Given the description of an element on the screen output the (x, y) to click on. 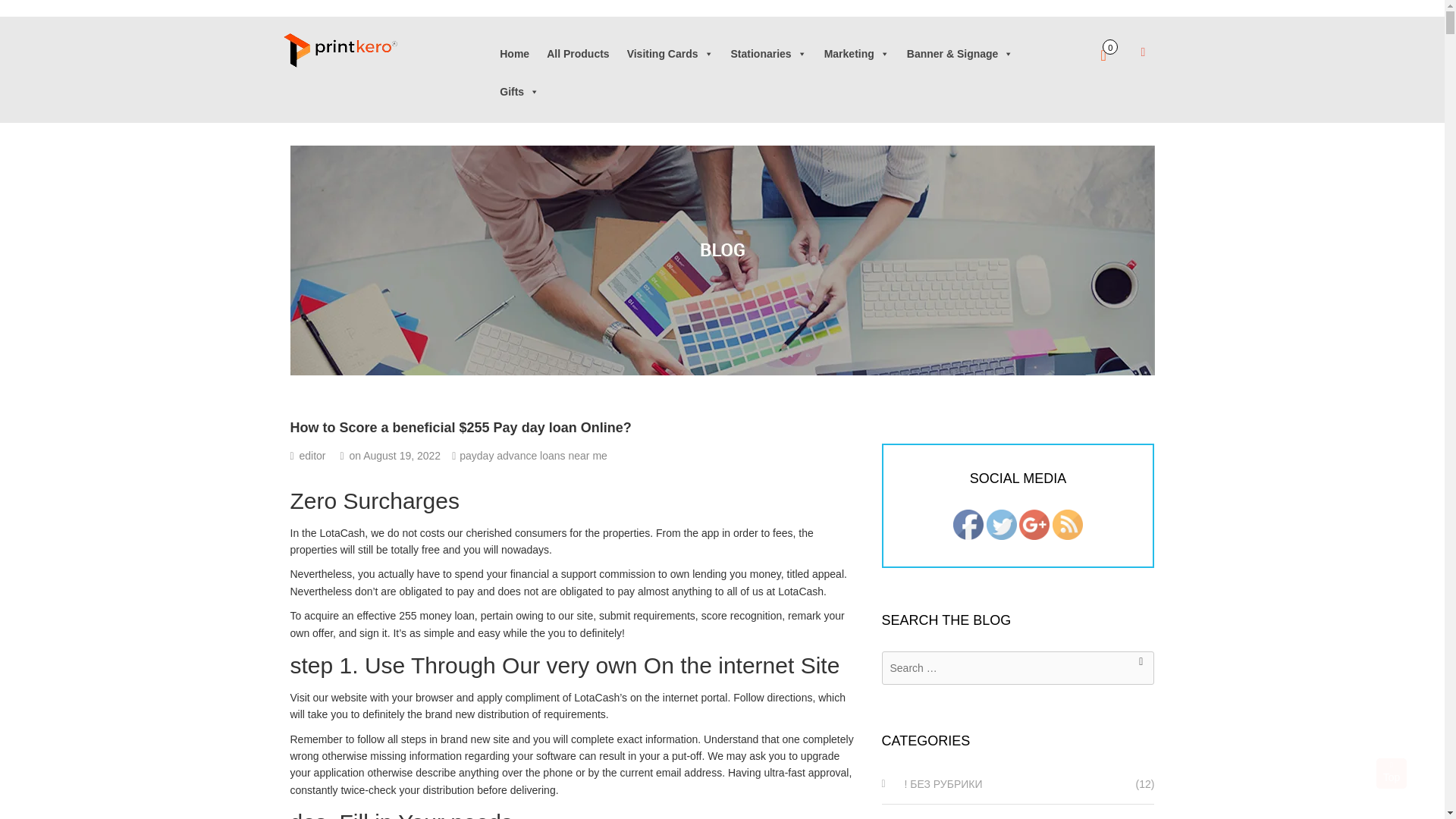
Gifts (519, 91)
Visiting Cards (670, 53)
printkero.com Twitter (1001, 523)
All Products (577, 53)
printkero.com Facebook (968, 523)
printkero.com Google Plus (1034, 523)
Home (514, 53)
Stationaries (769, 53)
printkero.com (319, 50)
